Given the description of an element on the screen output the (x, y) to click on. 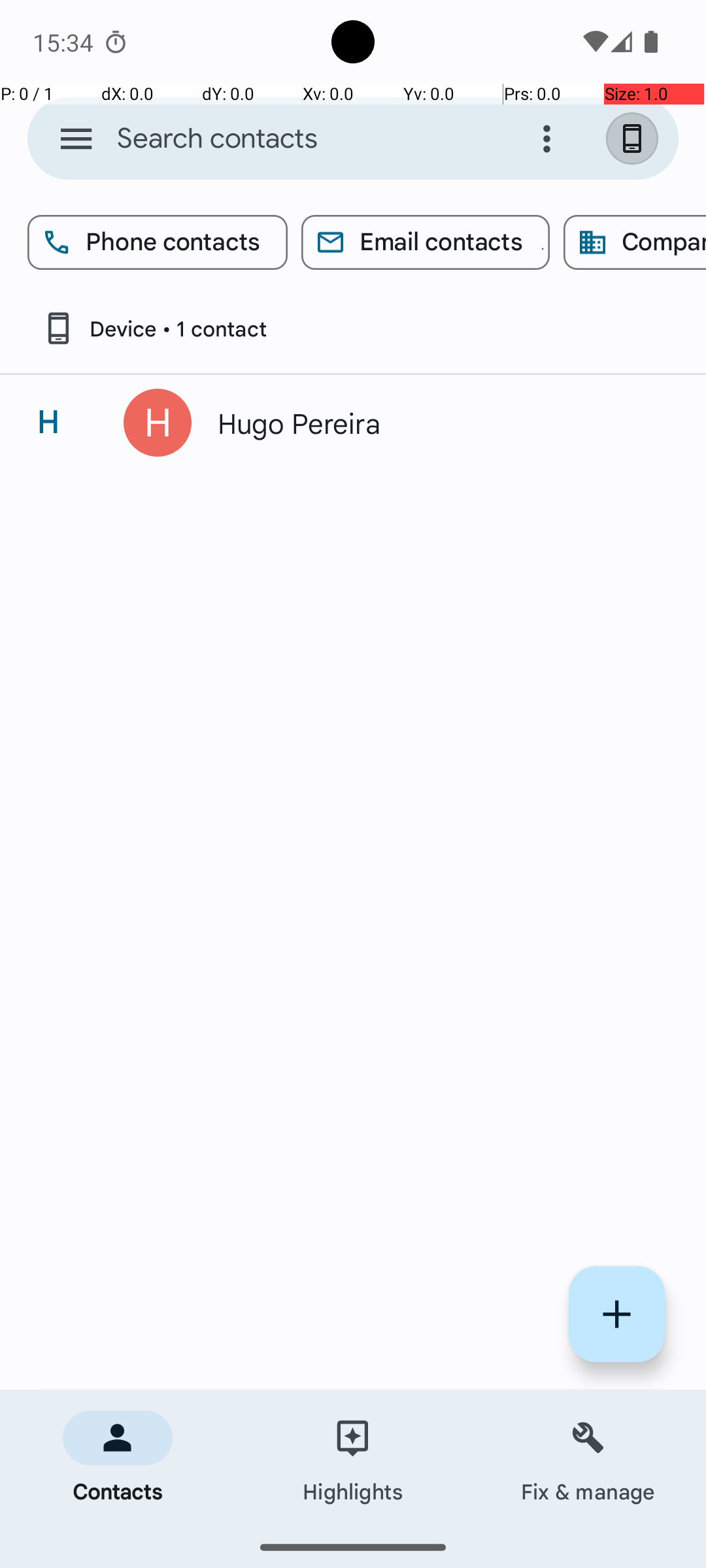
Device • 1 contact Element type: android.widget.TextView (153, 328)
Hugo Pereira Element type: android.widget.TextView (434, 422)
